Given the description of an element on the screen output the (x, y) to click on. 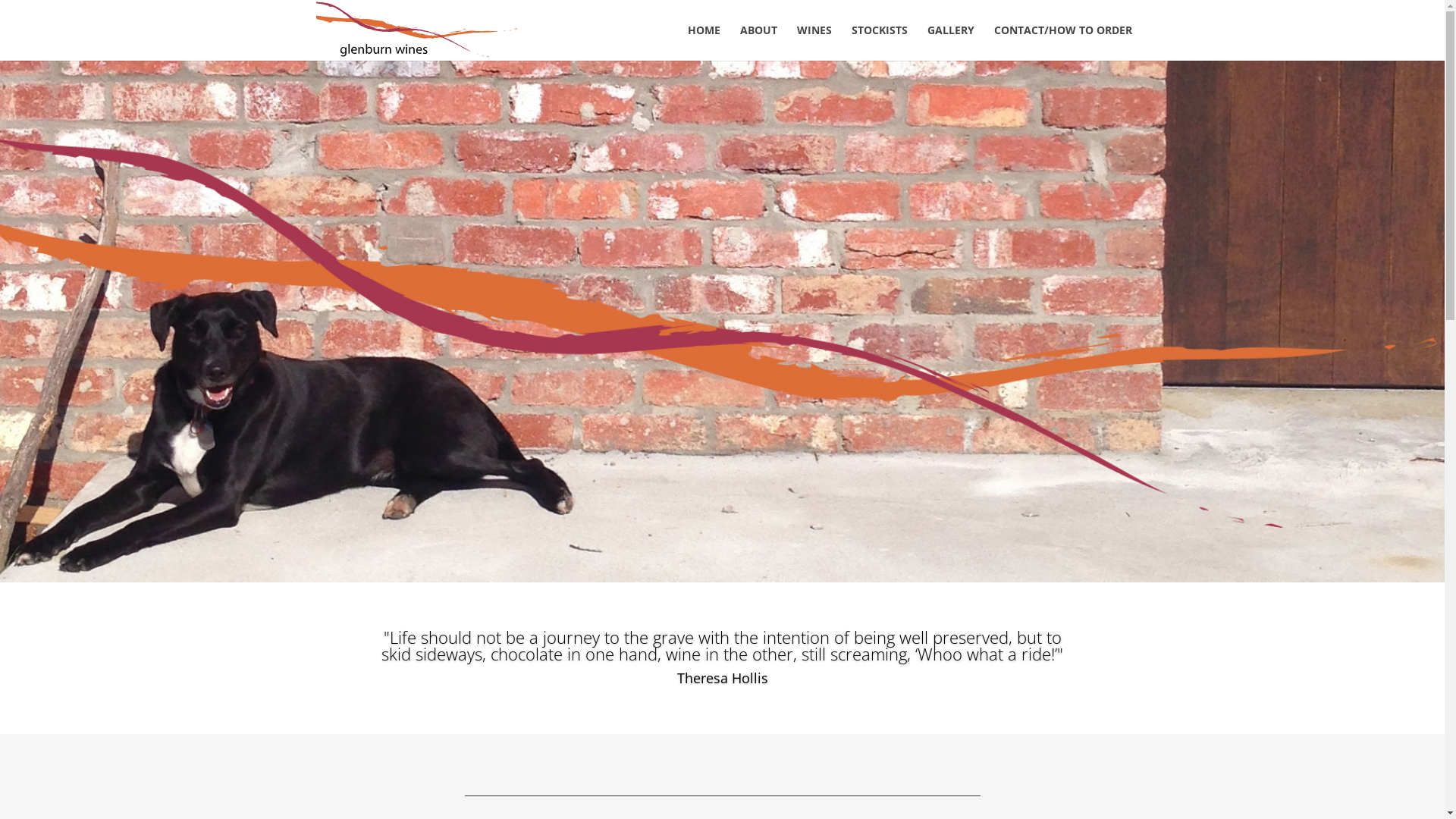
CONTACT/HOW TO ORDER Element type: text (1062, 42)
WINES Element type: text (813, 42)
STOCKISTS Element type: text (878, 42)
GALLERY Element type: text (949, 42)
HOME Element type: text (703, 42)
ABOUT Element type: text (758, 42)
